Given the description of an element on the screen output the (x, y) to click on. 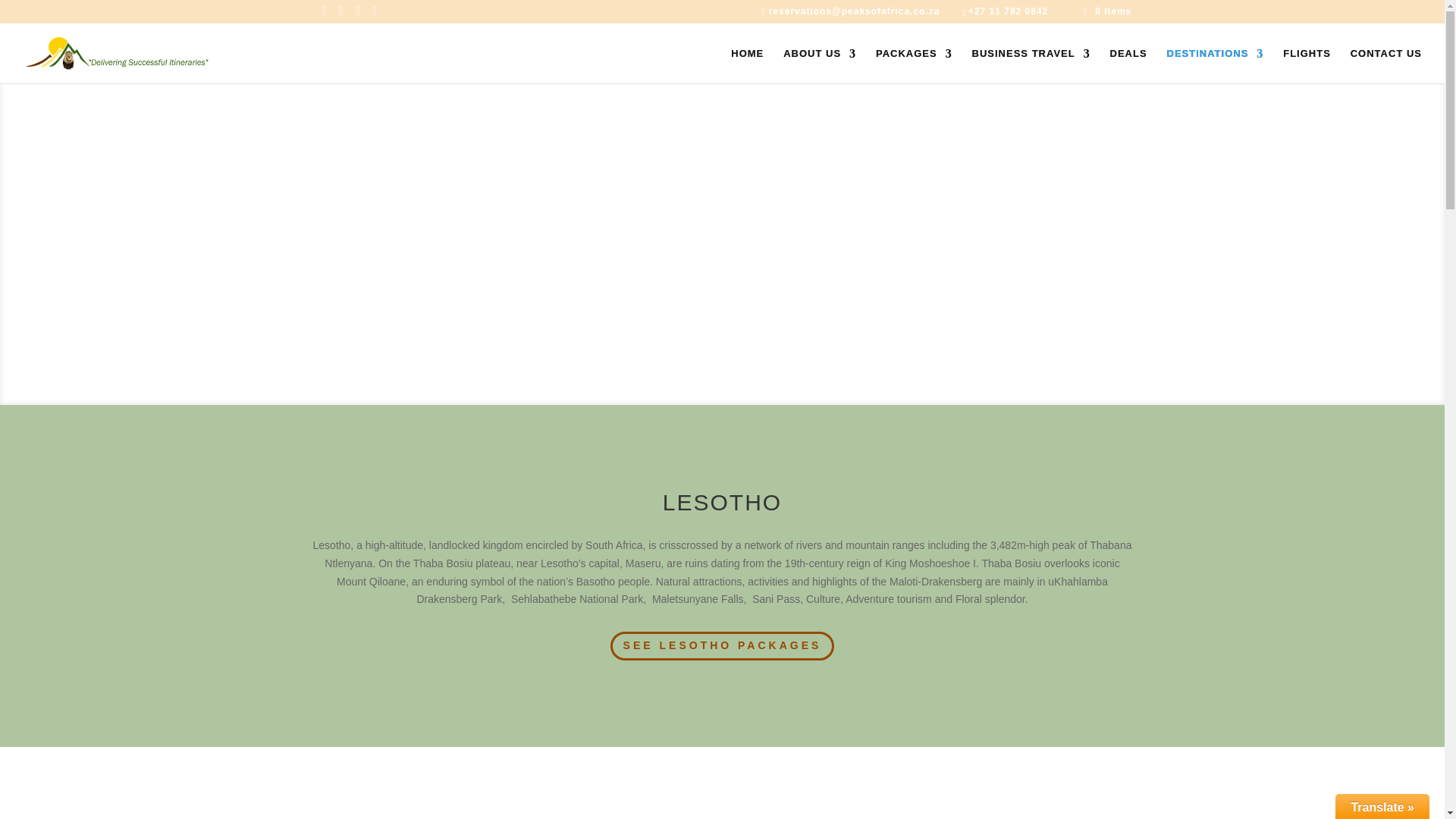
0 Items (1107, 10)
PACKAGES (914, 65)
HOME (746, 65)
ABOUT US (819, 65)
